Given the description of an element on the screen output the (x, y) to click on. 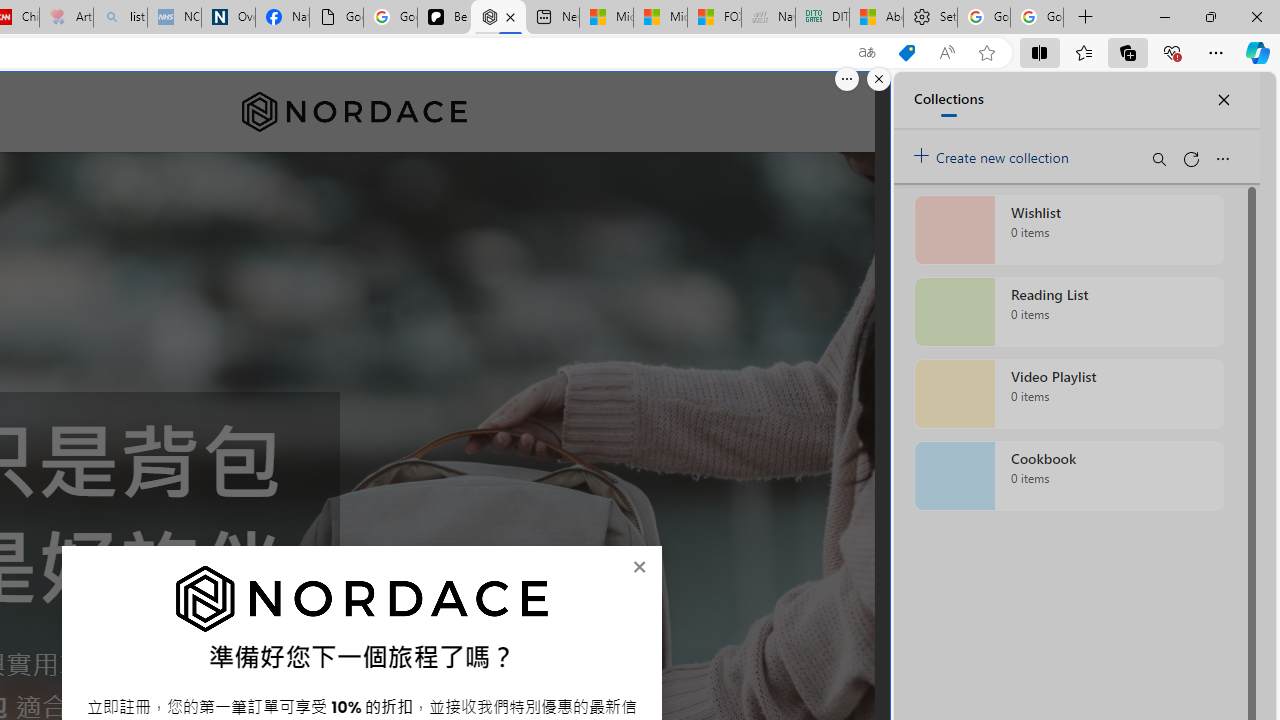
Close split screen. (878, 79)
